Given the description of an element on the screen output the (x, y) to click on. 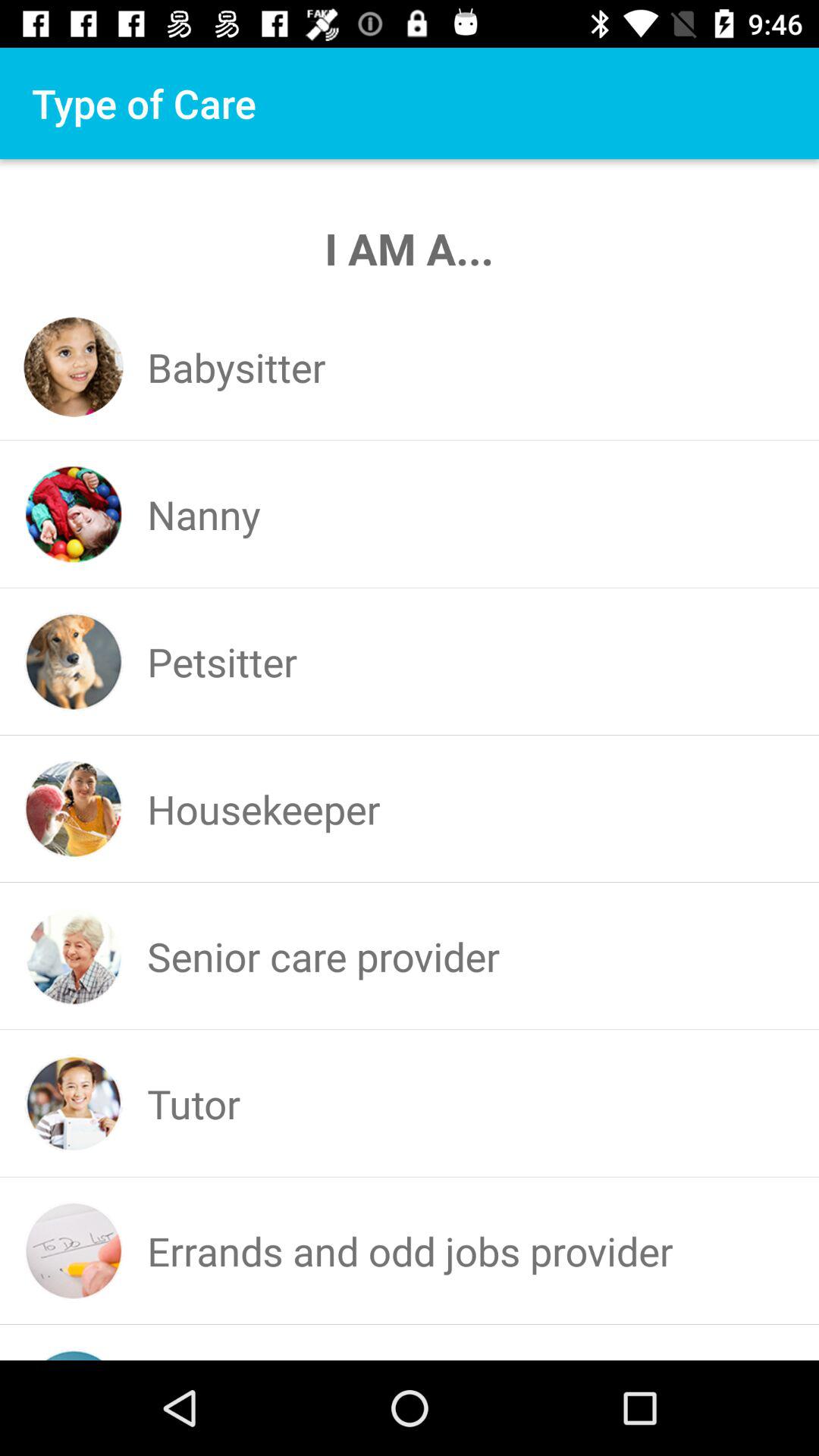
jump until housekeeper icon (263, 808)
